Given the description of an element on the screen output the (x, y) to click on. 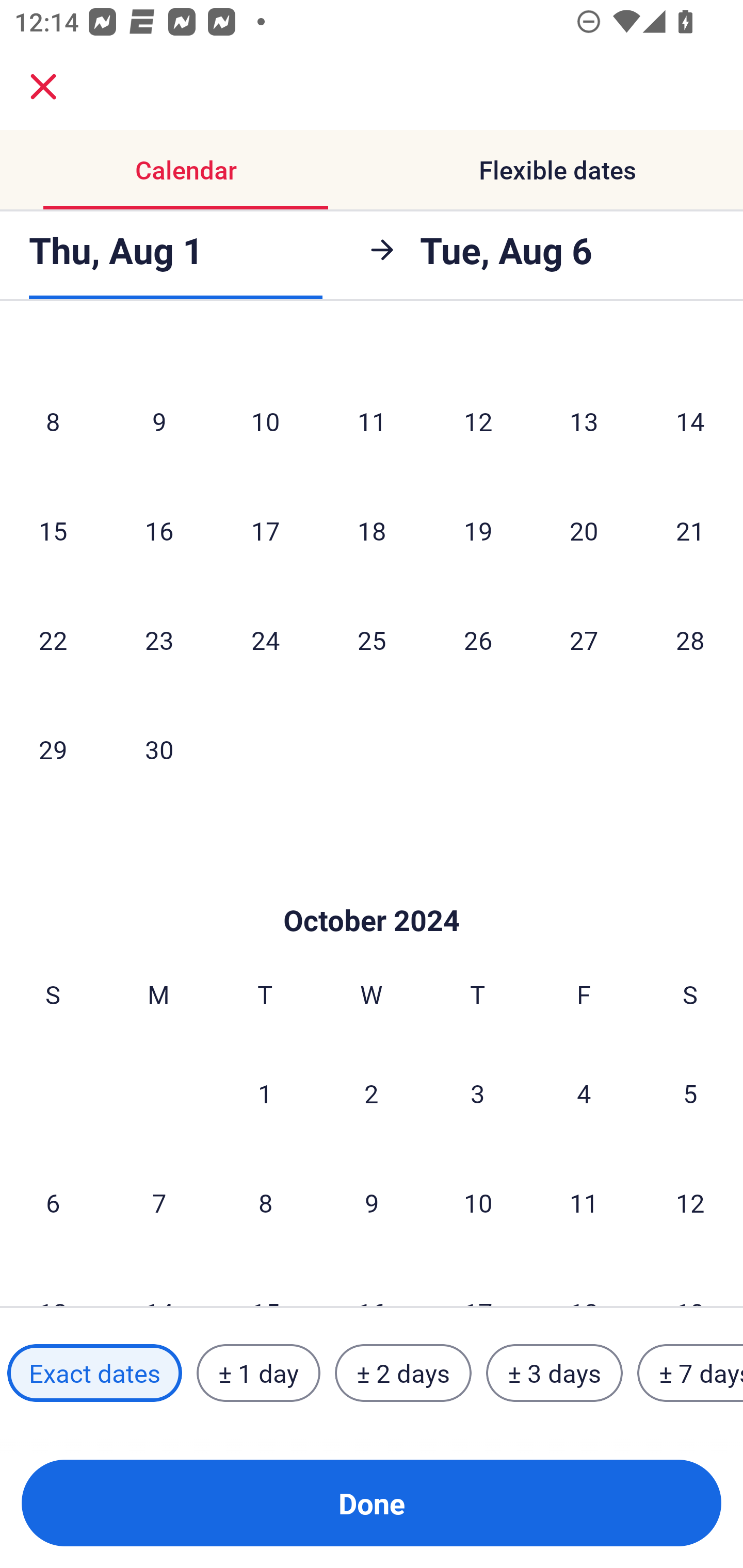
close. (43, 86)
Flexible dates (557, 170)
8 Sunday, September 8, 2024 (53, 420)
9 Monday, September 9, 2024 (159, 420)
10 Tuesday, September 10, 2024 (265, 420)
11 Wednesday, September 11, 2024 (371, 420)
12 Thursday, September 12, 2024 (477, 420)
13 Friday, September 13, 2024 (584, 420)
14 Saturday, September 14, 2024 (690, 420)
15 Sunday, September 15, 2024 (53, 530)
16 Monday, September 16, 2024 (159, 530)
17 Tuesday, September 17, 2024 (265, 530)
18 Wednesday, September 18, 2024 (371, 530)
19 Thursday, September 19, 2024 (477, 530)
20 Friday, September 20, 2024 (584, 530)
21 Saturday, September 21, 2024 (690, 530)
22 Sunday, September 22, 2024 (53, 639)
23 Monday, September 23, 2024 (159, 639)
24 Tuesday, September 24, 2024 (265, 639)
25 Wednesday, September 25, 2024 (371, 639)
26 Thursday, September 26, 2024 (477, 639)
27 Friday, September 27, 2024 (584, 639)
28 Saturday, September 28, 2024 (690, 639)
29 Sunday, September 29, 2024 (53, 749)
30 Monday, September 30, 2024 (159, 749)
Skip to Done (371, 889)
1 Tuesday, October 1, 2024 (264, 1092)
2 Wednesday, October 2, 2024 (371, 1092)
3 Thursday, October 3, 2024 (477, 1092)
4 Friday, October 4, 2024 (584, 1092)
5 Saturday, October 5, 2024 (690, 1092)
6 Sunday, October 6, 2024 (53, 1202)
7 Monday, October 7, 2024 (159, 1202)
8 Tuesday, October 8, 2024 (265, 1202)
9 Wednesday, October 9, 2024 (371, 1202)
10 Thursday, October 10, 2024 (477, 1202)
11 Friday, October 11, 2024 (584, 1202)
12 Saturday, October 12, 2024 (690, 1202)
Exact dates (94, 1372)
± 1 day (258, 1372)
± 2 days (403, 1372)
± 3 days (553, 1372)
± 7 days (690, 1372)
Done (371, 1502)
